Given the description of an element on the screen output the (x, y) to click on. 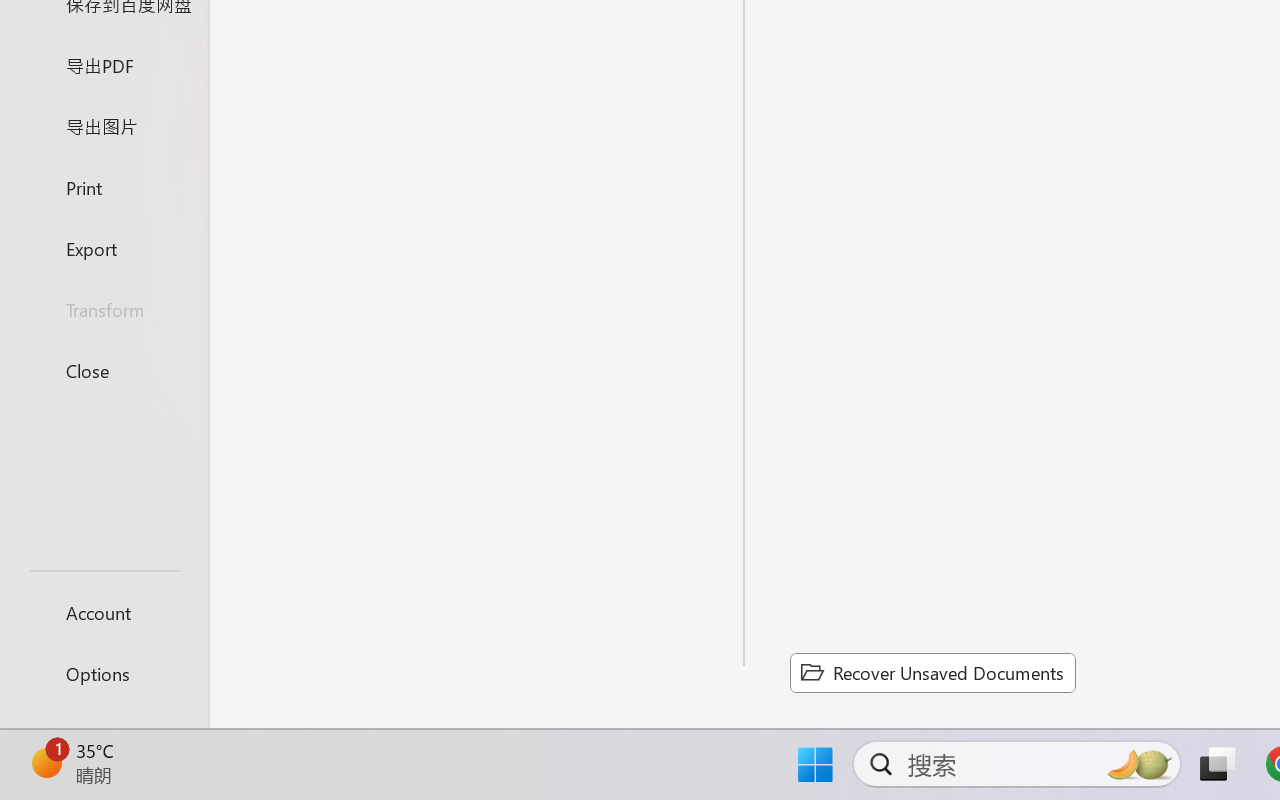
Account (104, 612)
Transform (104, 309)
Print (104, 186)
Options (104, 673)
Export (104, 248)
Recover Unsaved Documents (932, 672)
